Given the description of an element on the screen output the (x, y) to click on. 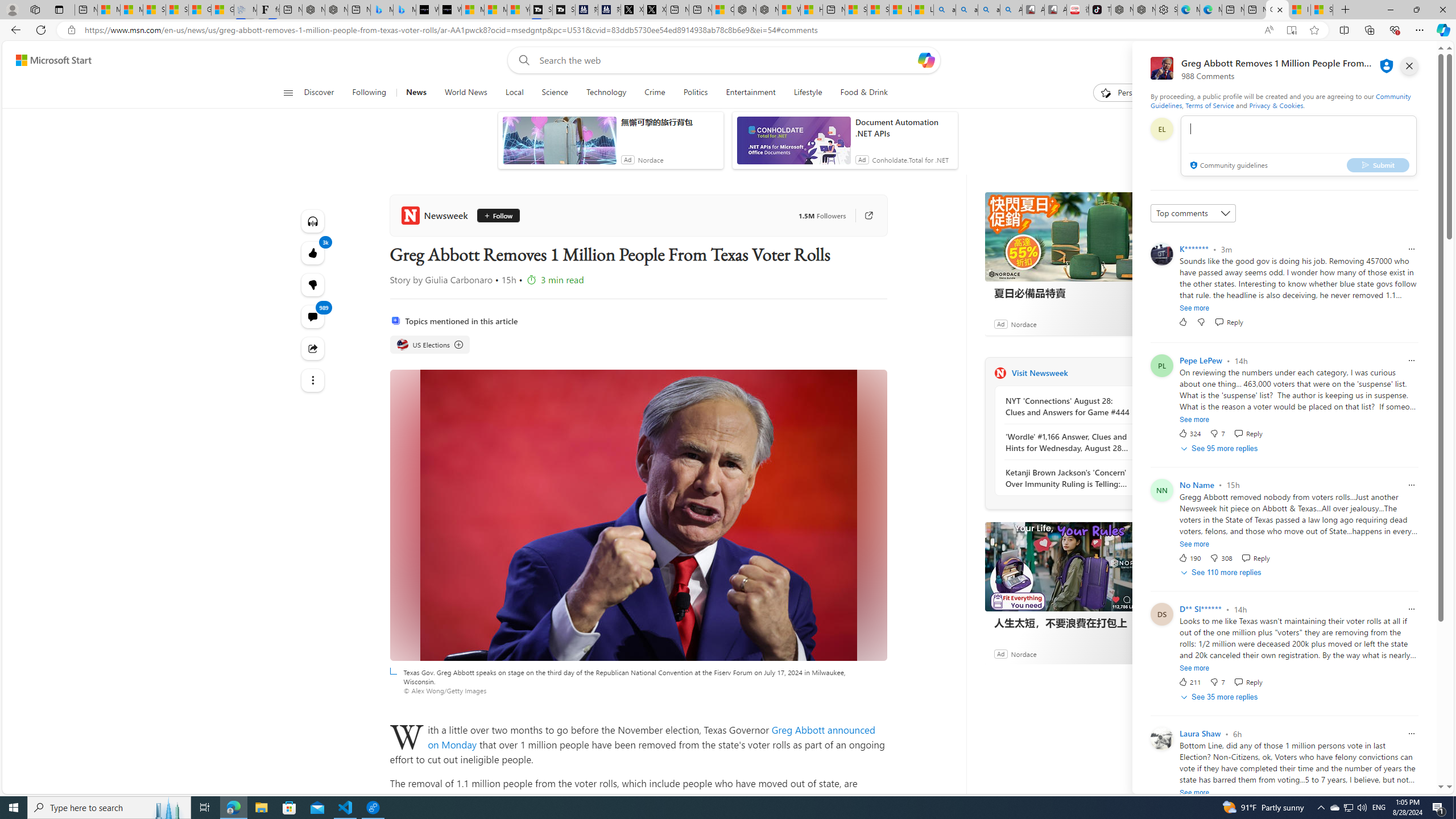
US Elections (430, 344)
211 Like (1189, 681)
announced on Monday (651, 737)
amazon - Search Images (988, 9)
Technology (606, 92)
Food & Drink (859, 92)
324 Like (1189, 433)
More like this3kFewer like thisView comments (312, 284)
Open navigation menu (287, 92)
Document Automation .NET APIs (903, 127)
